Given the description of an element on the screen output the (x, y) to click on. 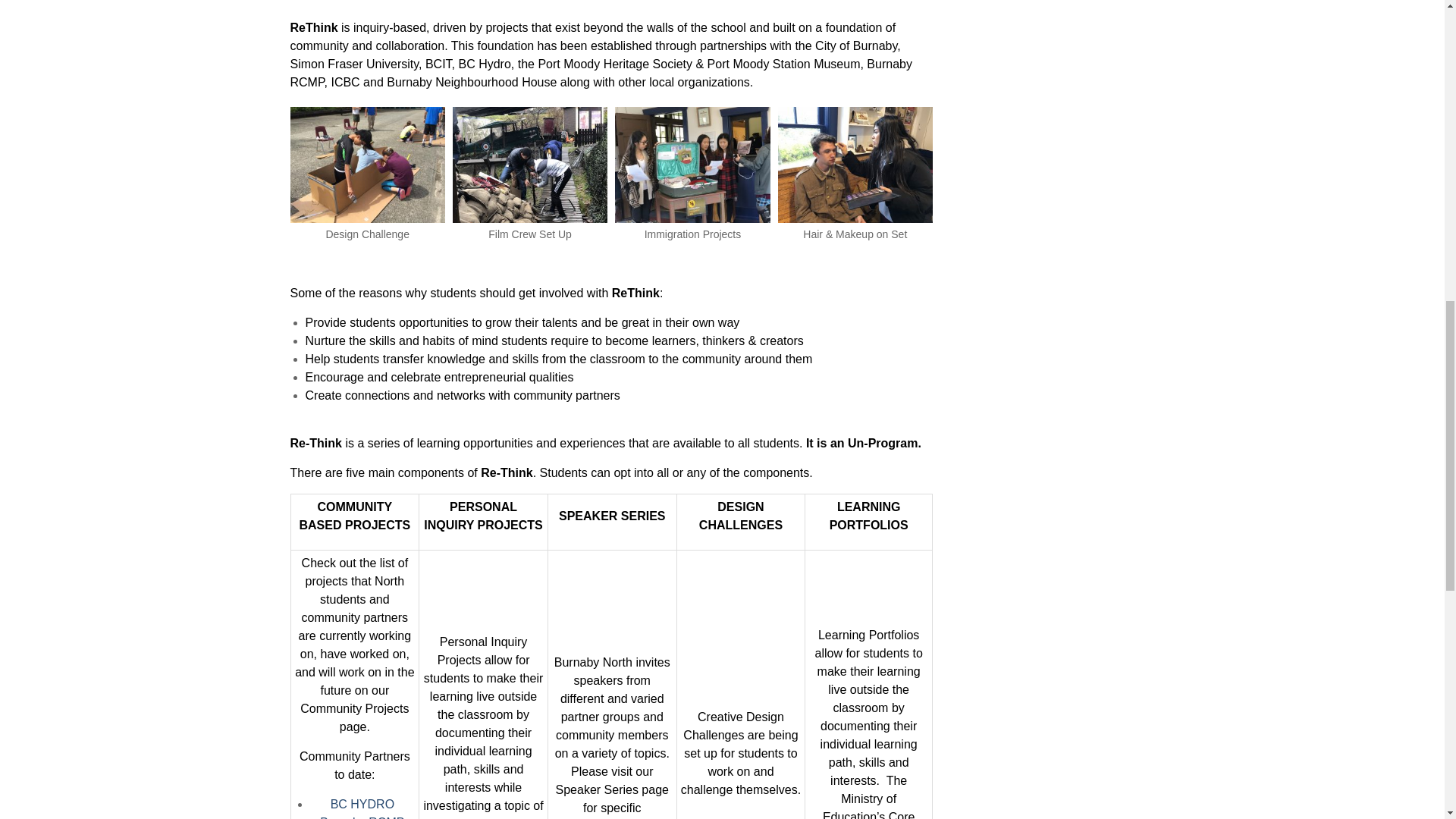
Burnaby RCMP (362, 817)
Community Projects (354, 707)
BC HYDRO (362, 803)
